Given the description of an element on the screen output the (x, y) to click on. 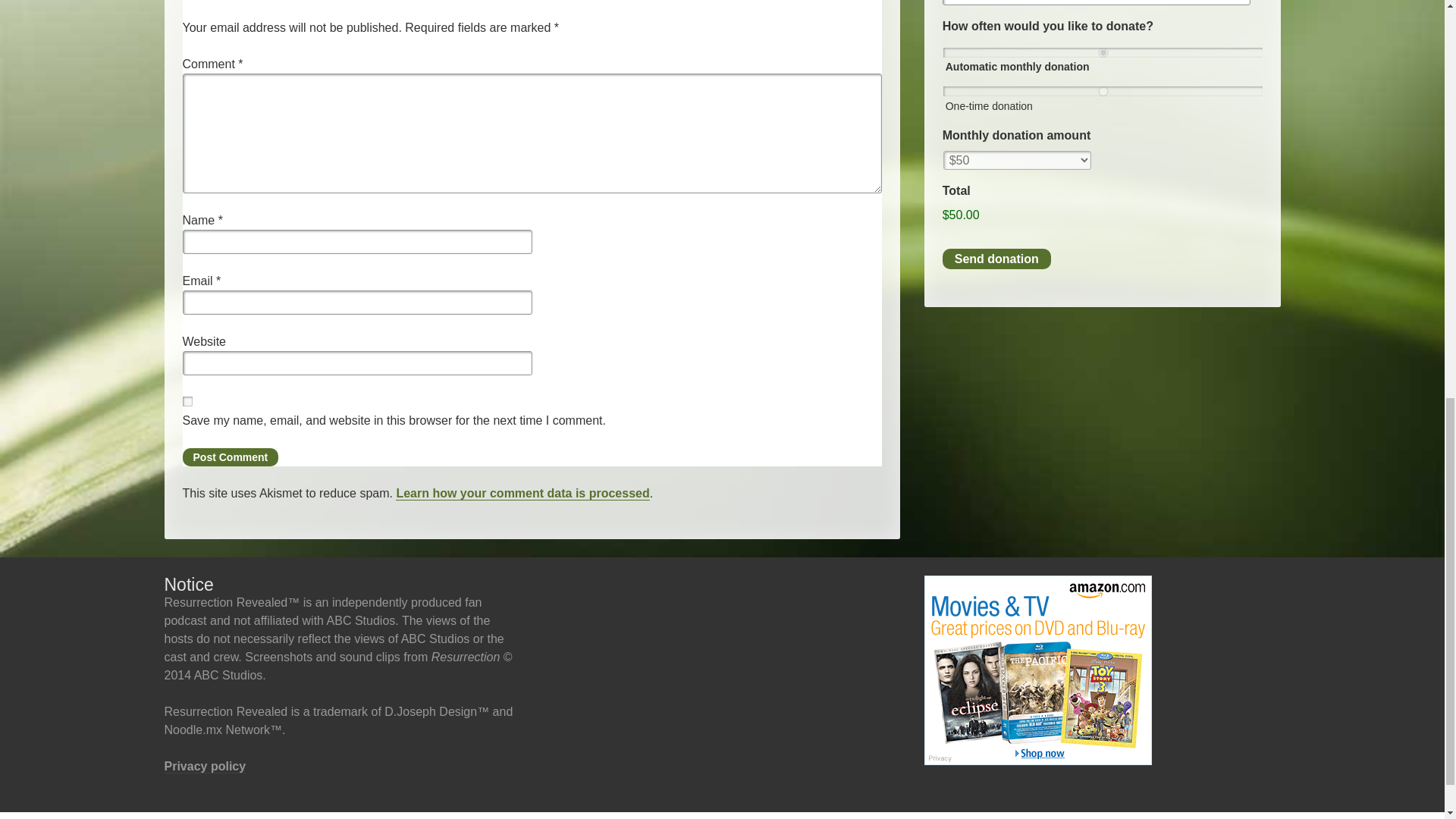
Send donation (996, 258)
Post Comment (230, 456)
Automatic monthly donation (1103, 52)
Post Comment (230, 456)
yes (187, 401)
Send donation (996, 258)
Learn how your comment data is processed (522, 493)
One-time donation (1103, 91)
Privacy policy (204, 766)
